Given the description of an element on the screen output the (x, y) to click on. 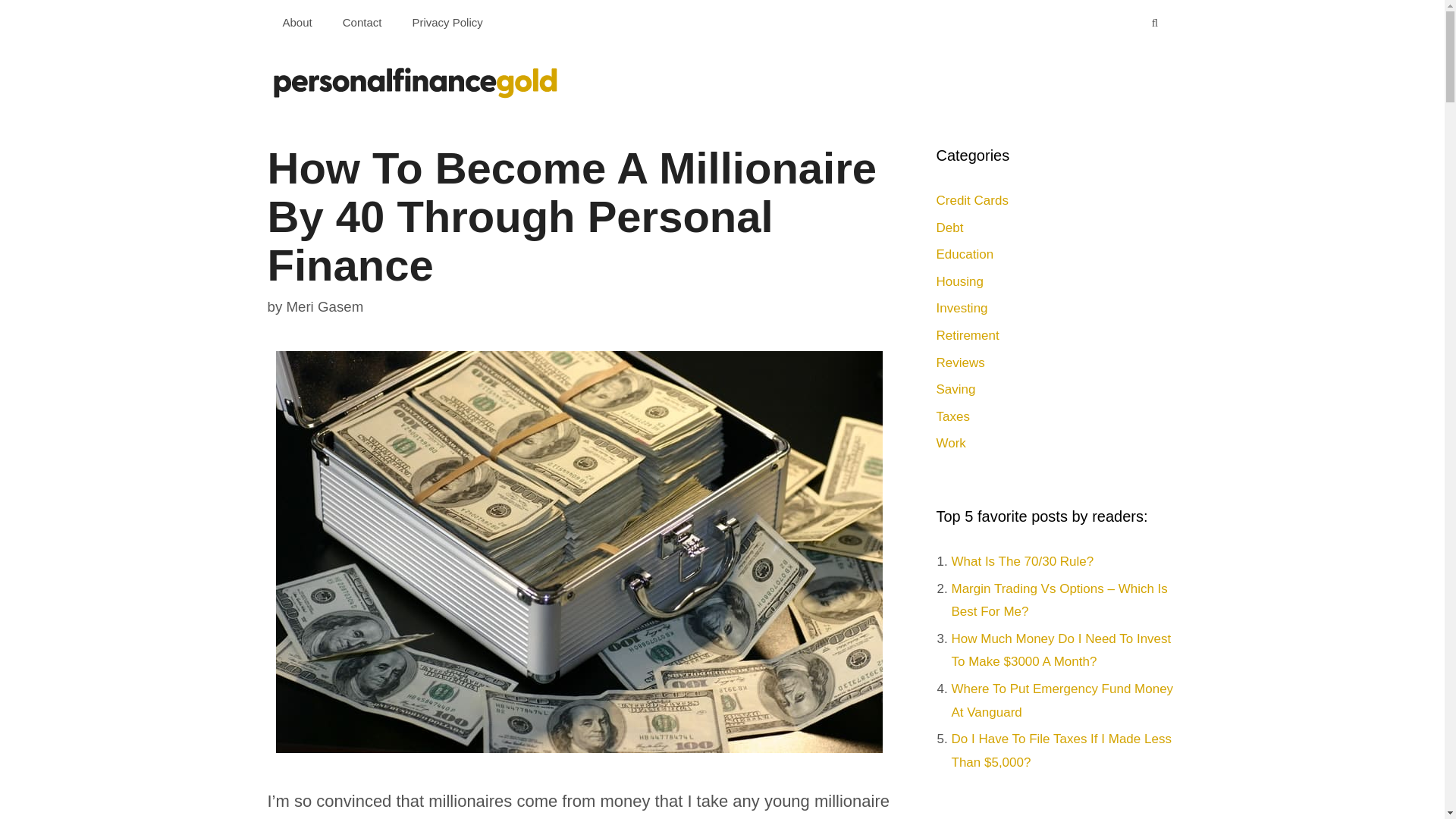
Privacy Policy (446, 22)
Housing (959, 281)
Debt (949, 227)
View all posts by Meri Gasem (323, 306)
Credit Cards (971, 200)
Contact (362, 22)
Education (964, 254)
About (296, 22)
Meri Gasem (323, 306)
